Given the description of an element on the screen output the (x, y) to click on. 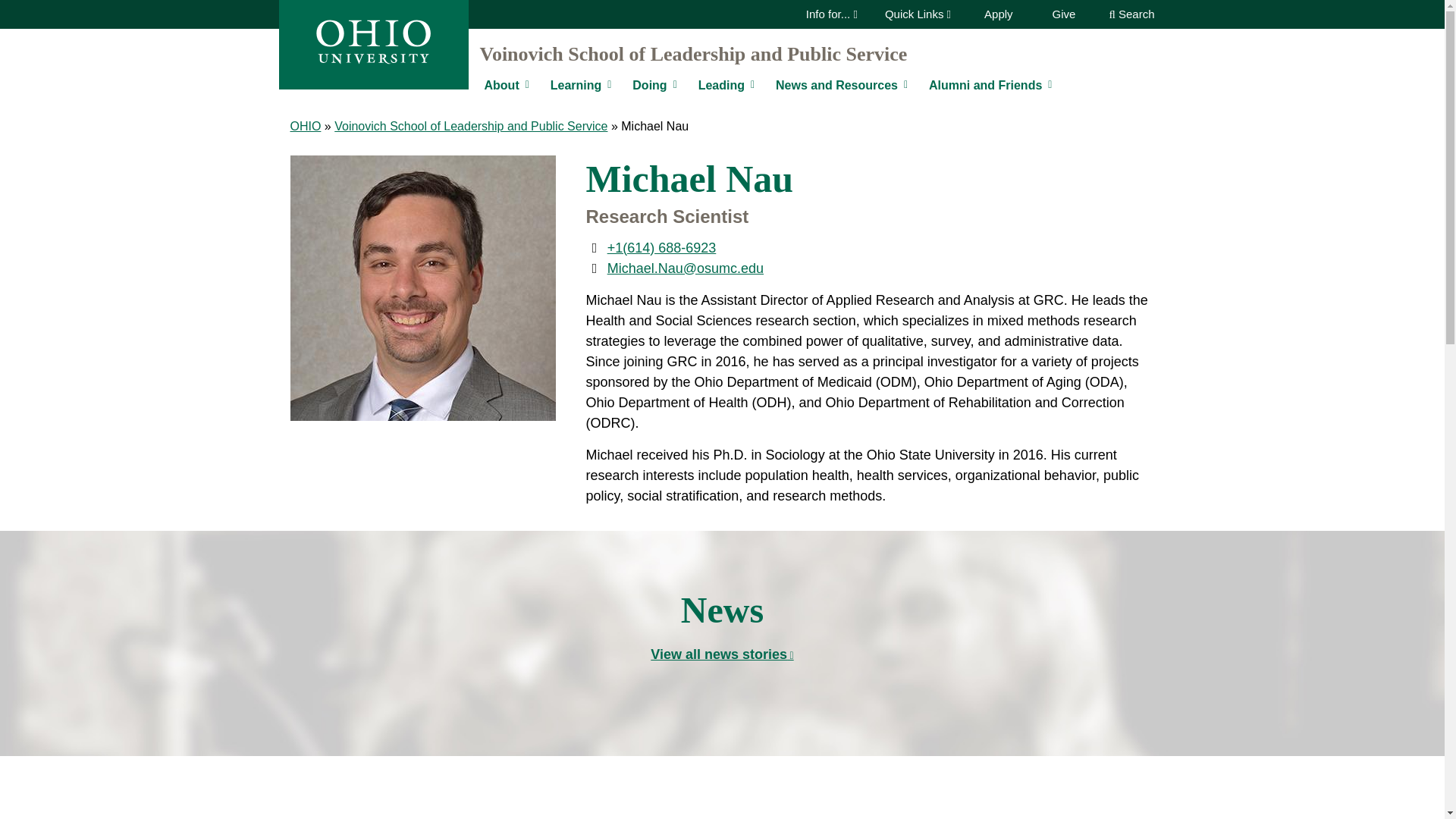
Give (1063, 13)
News (721, 653)
Apply (998, 13)
Go to Ohio University Home Page (372, 41)
Michael Nau's profile picture (421, 287)
Info for... (831, 14)
Voinovich School of Leadership and Public Service (693, 54)
Search (1131, 14)
About (500, 85)
Quick Links (917, 14)
